Given the description of an element on the screen output the (x, y) to click on. 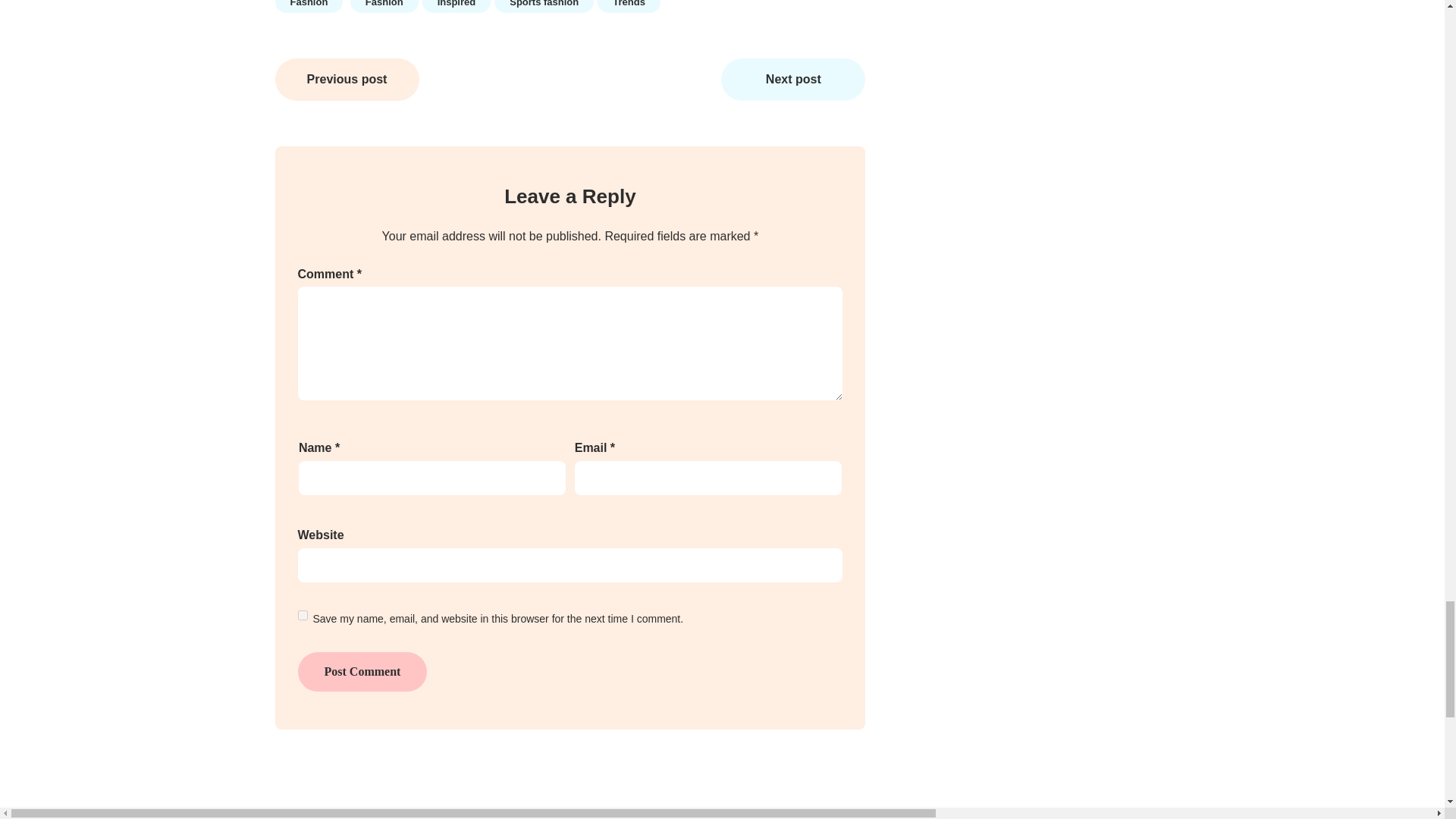
Inspired (457, 6)
Fashion (308, 6)
yes (302, 614)
Post Comment (361, 671)
Sports fashion (544, 6)
Next post (792, 79)
Trends (628, 6)
Previous post (347, 79)
Fashion (384, 6)
Post Comment (361, 671)
